Given the description of an element on the screen output the (x, y) to click on. 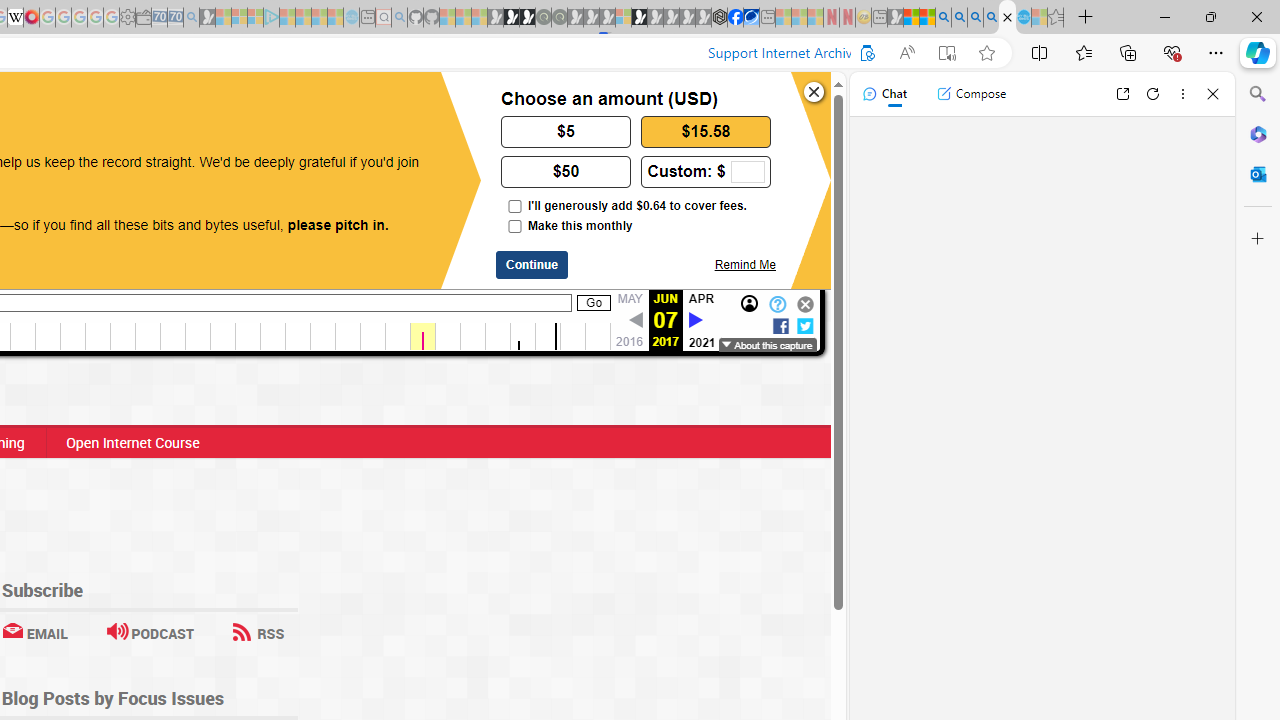
APR (701, 299)
Sign in to your account - Sleeping (623, 17)
Microsoft Start Gaming - Sleeping (207, 17)
ACT NOW (98, 108)
Bing Real Estate - Home sales and rental listings - Sleeping (191, 17)
2021 (701, 341)
